Given the description of an element on the screen output the (x, y) to click on. 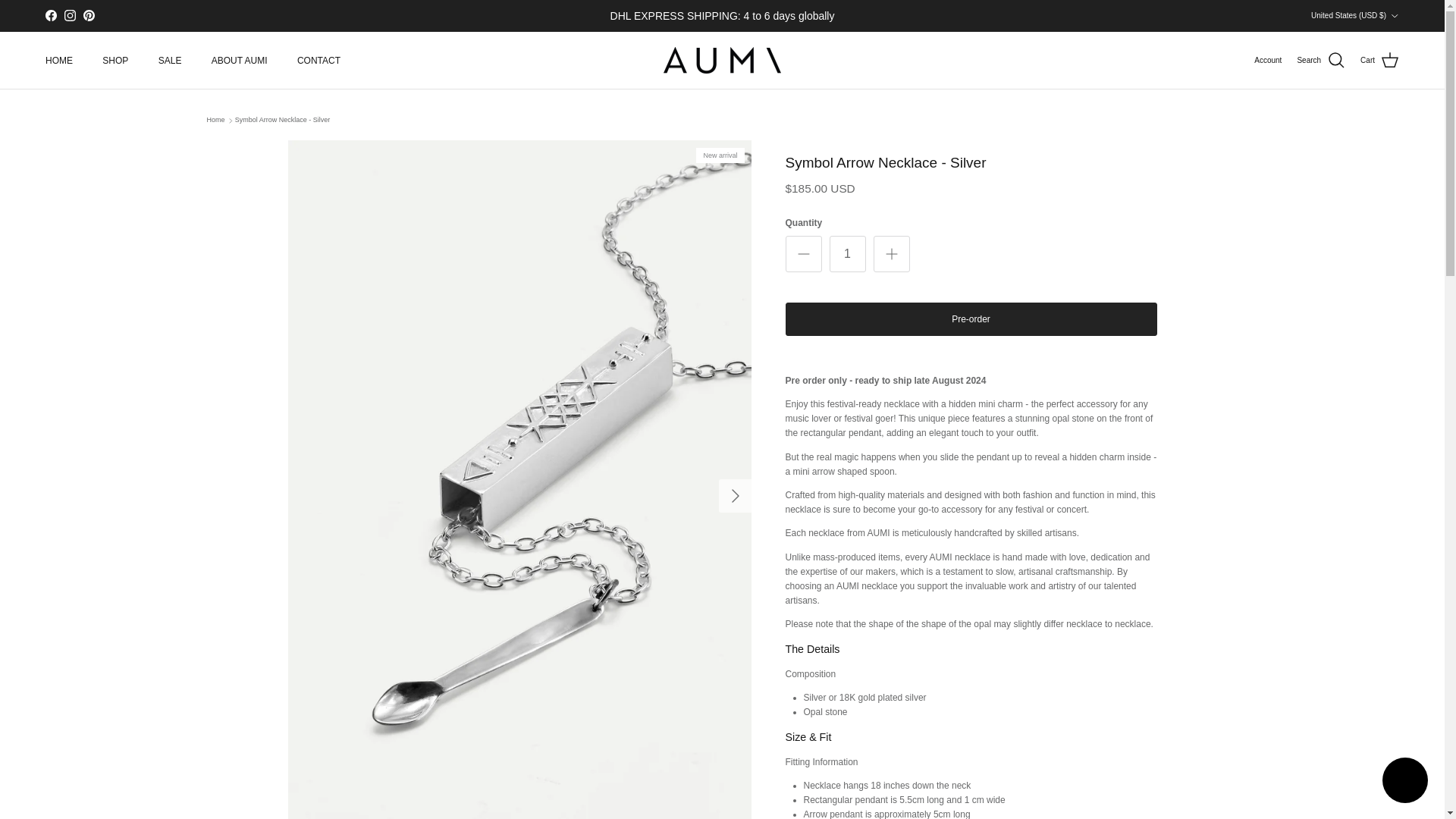
Search (1321, 60)
AUMI  on Facebook (50, 15)
CONTACT (318, 60)
SHOP (114, 60)
HOME (58, 60)
Facebook (50, 15)
Instagram (69, 15)
AUMI  (721, 60)
Shopify online store chat (1404, 781)
SALE (169, 60)
